Given the description of an element on the screen output the (x, y) to click on. 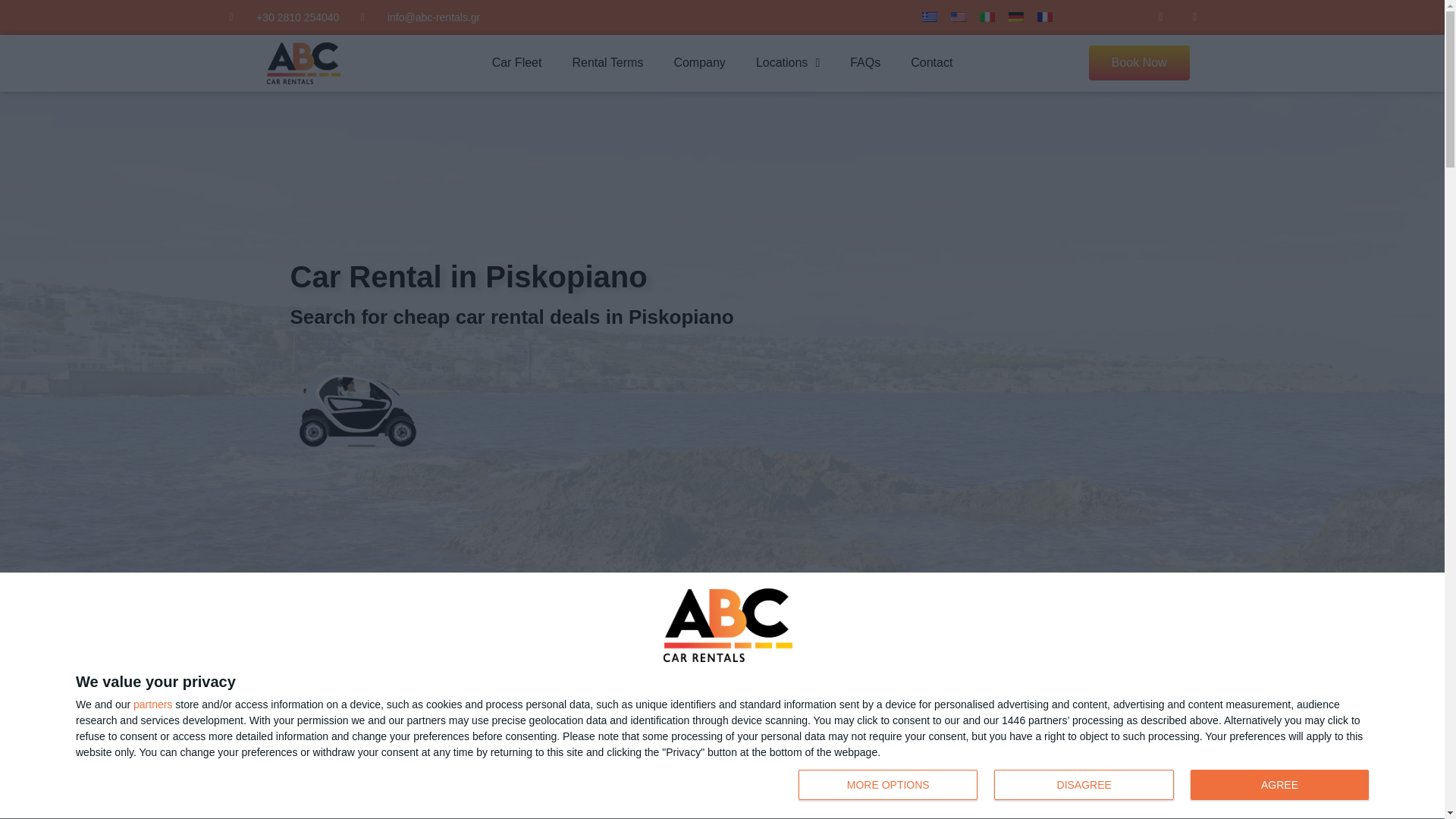
French (1044, 17)
MORE OPTIONS (886, 784)
Car Fleet (1086, 785)
Locations (517, 62)
partners (787, 62)
DISAGREE (152, 704)
AGREE (1083, 784)
Italian (1279, 784)
Greek (986, 17)
German (929, 17)
English (1016, 17)
Rental Terms (958, 17)
Company (607, 62)
